Given the description of an element on the screen output the (x, y) to click on. 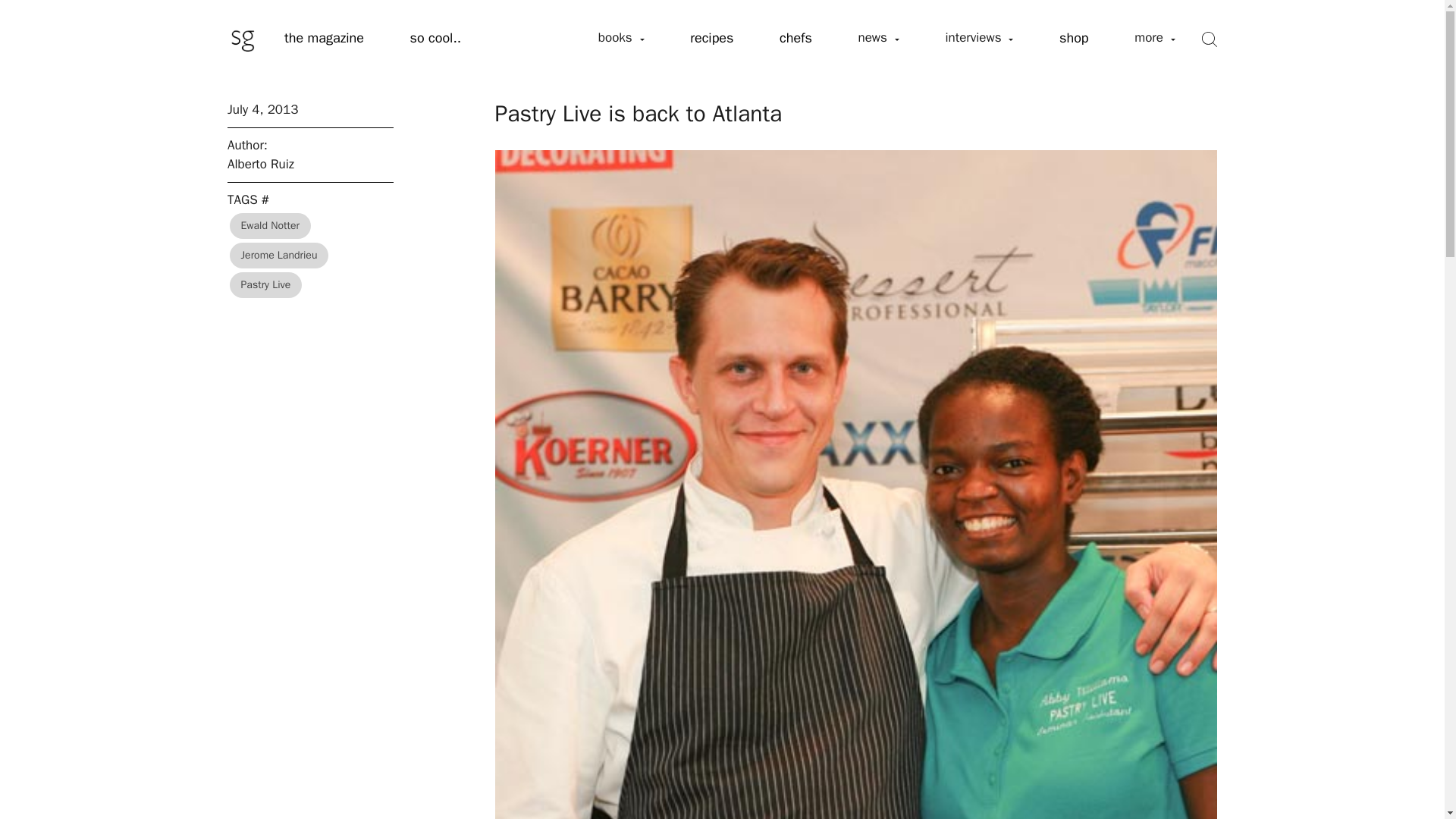
the magazine (324, 38)
The Magazine (324, 38)
books (620, 37)
Jerome Landrieu (279, 254)
interviews (978, 37)
Ewald Notter (270, 225)
so cool.. (435, 38)
Pastry Chefs (795, 38)
recipes (710, 38)
chefs (795, 38)
